Given the description of an element on the screen output the (x, y) to click on. 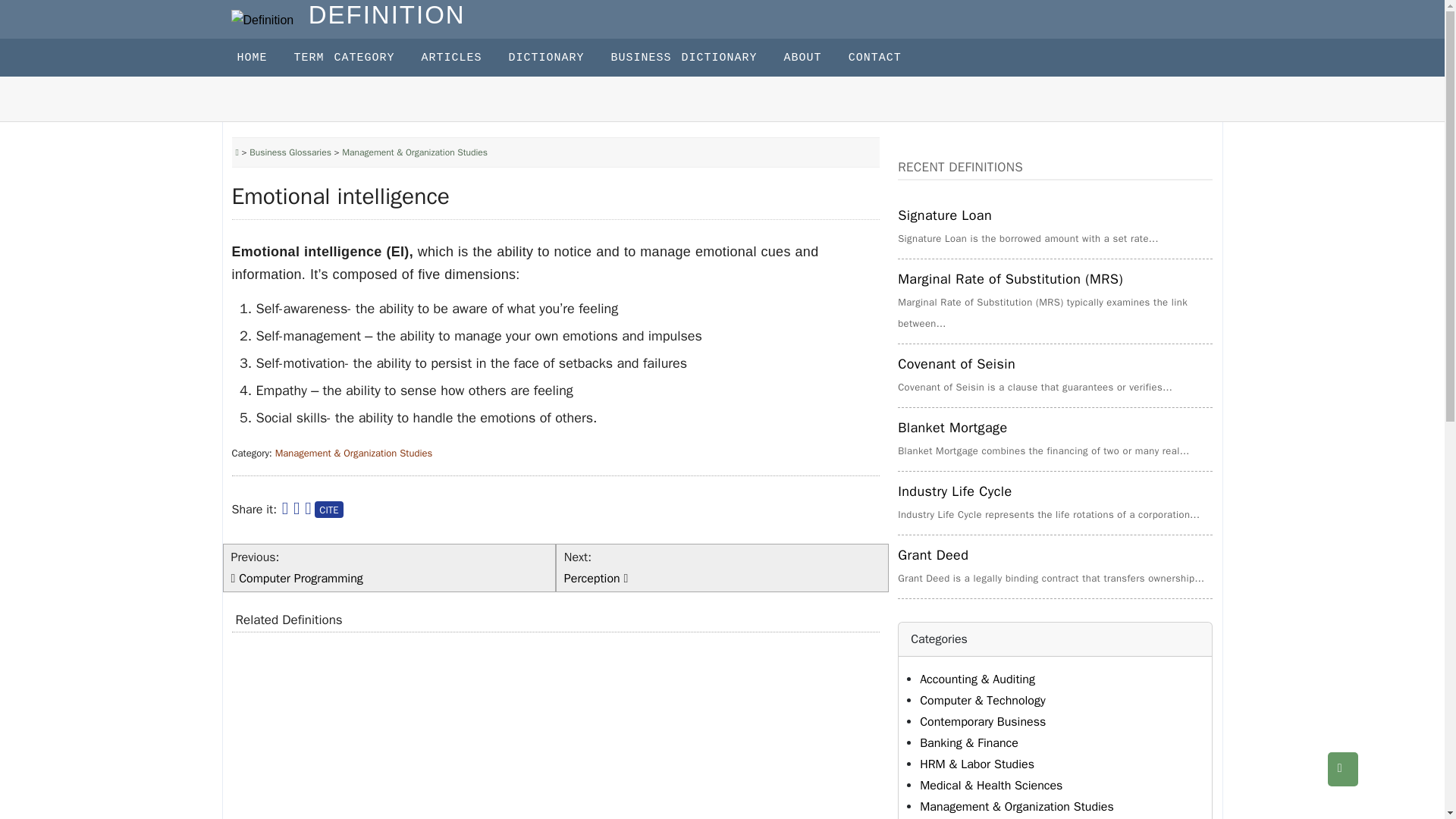
TERM CATEGORY (358, 57)
Definition (262, 20)
Computer Programming (300, 578)
ARTICLES (465, 57)
Business Glossaries (289, 152)
Contemporary Business (982, 721)
DICTIONARY (559, 57)
CONTACT (888, 57)
ABOUT (816, 57)
BUSINESS DICTIONARY (697, 57)
CITE (328, 509)
